Given the description of an element on the screen output the (x, y) to click on. 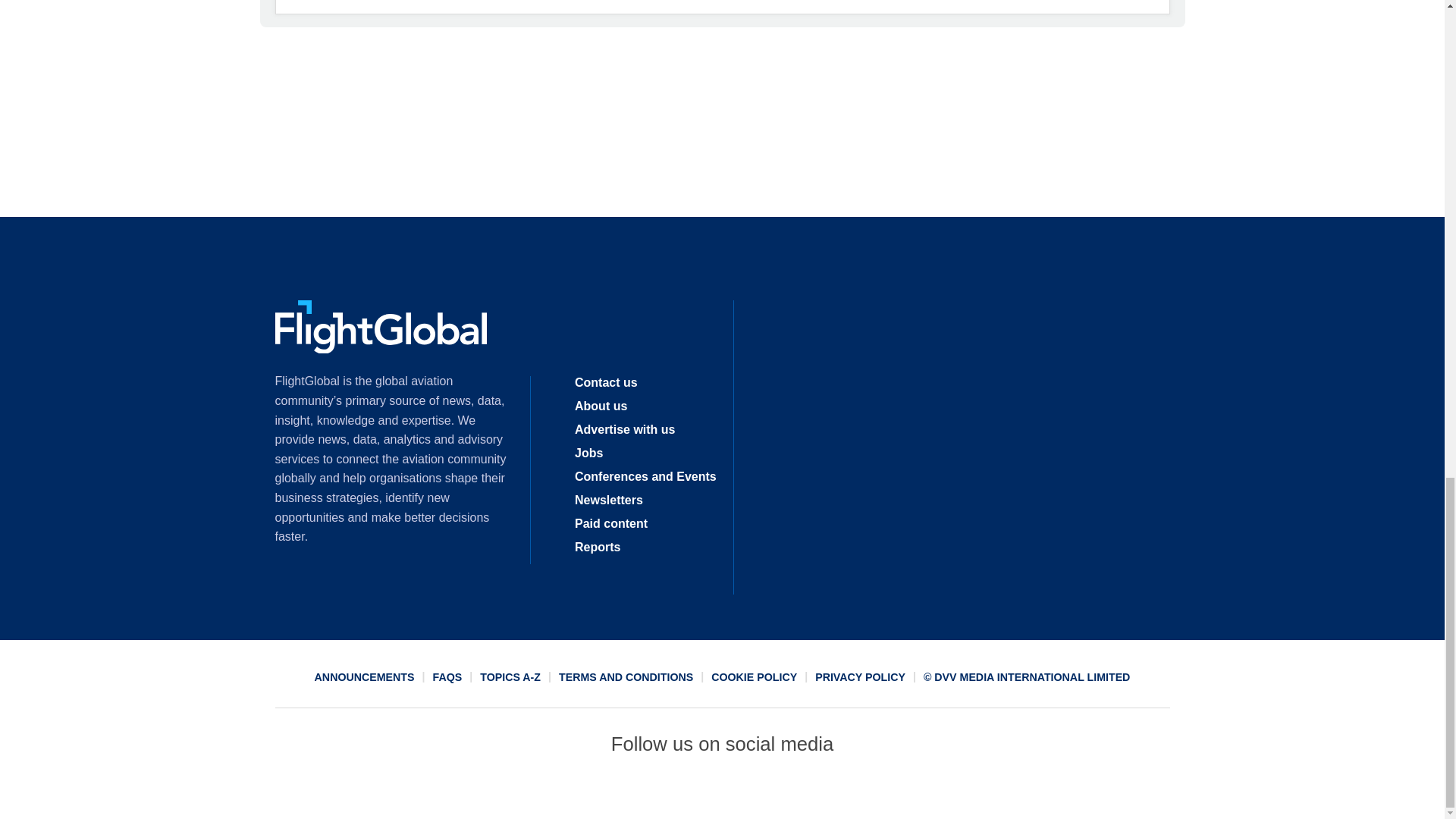
Email us (776, 791)
Connect with us on Facebook (611, 791)
Connect with us on Youtube (831, 791)
Connect with us on Twitter (667, 791)
Connect with us on Linked In (721, 791)
